Given the description of an element on the screen output the (x, y) to click on. 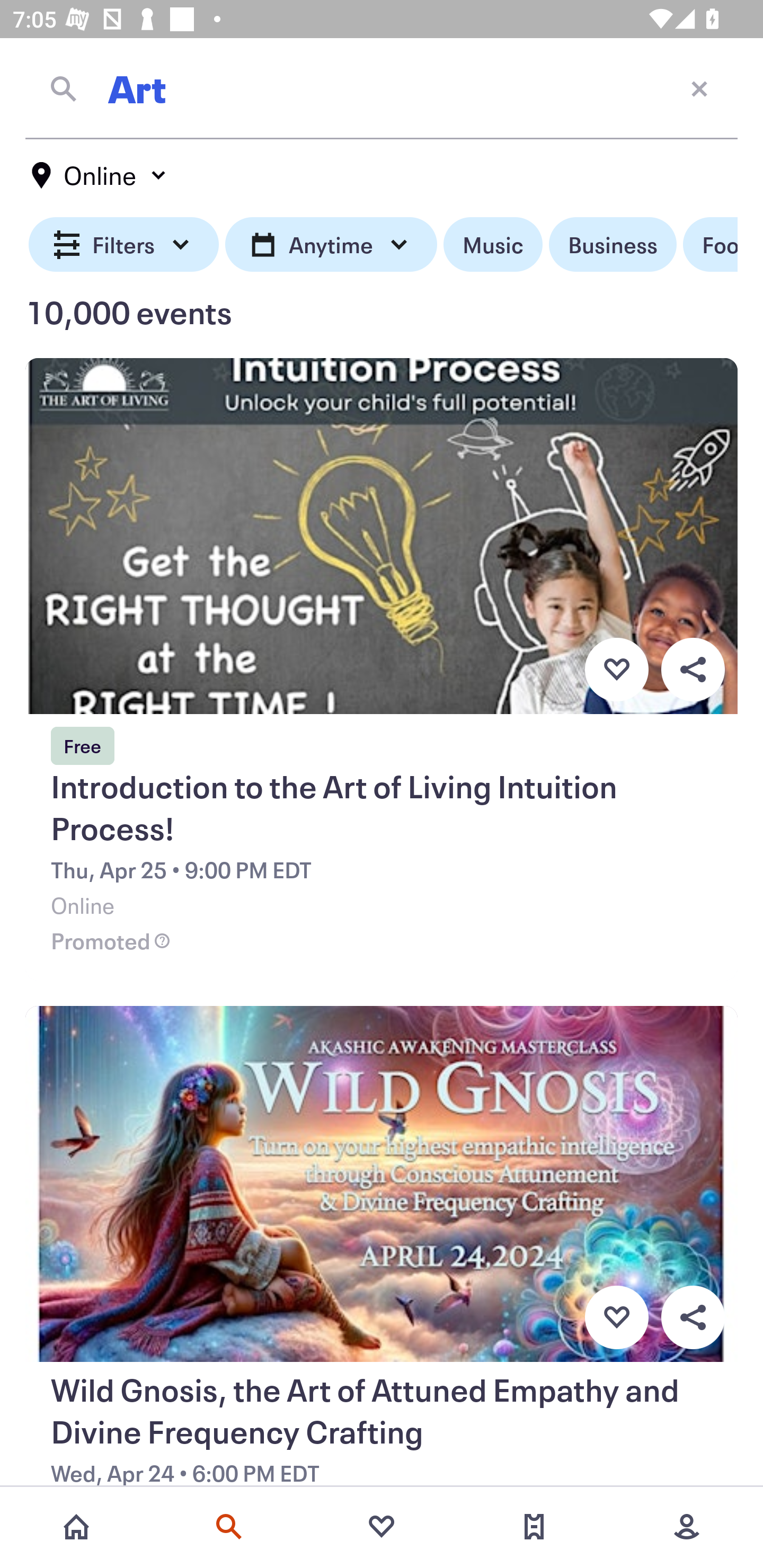
Art Close current screen (381, 88)
Close current screen (699, 88)
Online (99, 175)
Filters (123, 244)
Anytime (331, 244)
Music (492, 244)
Business (612, 244)
Favorite button (616, 669)
Overflow menu button (692, 669)
Favorite button (616, 1317)
Overflow menu button (692, 1317)
Home (76, 1526)
Search events (228, 1526)
Favorites (381, 1526)
Tickets (533, 1526)
More (686, 1526)
